Given the description of an element on the screen output the (x, y) to click on. 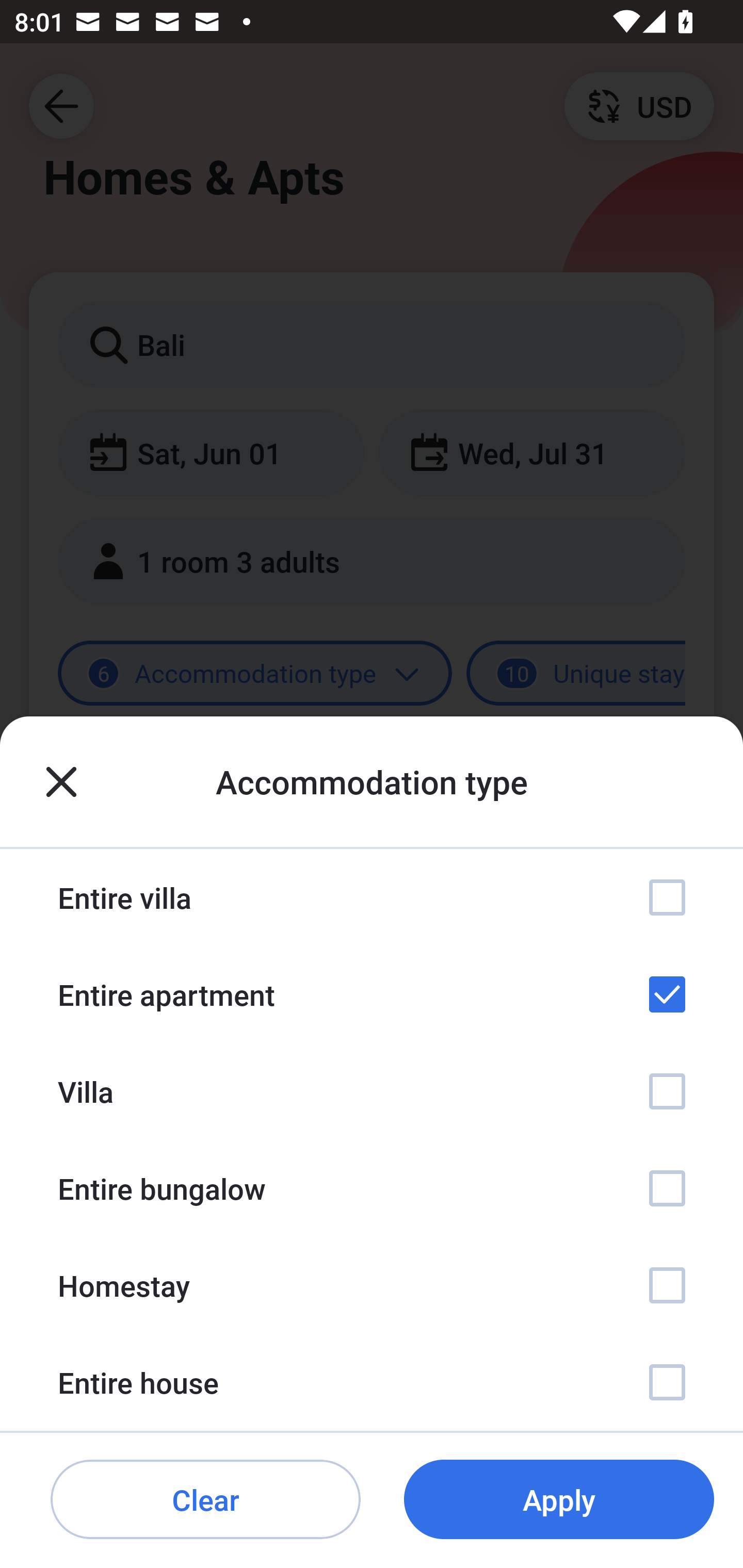
Entire villa (371, 897)
Entire apartment (371, 994)
Villa (371, 1091)
Entire bungalow (371, 1188)
Homestay (371, 1284)
Entire house (371, 1382)
Clear (205, 1499)
Apply (559, 1499)
